Given the description of an element on the screen output the (x, y) to click on. 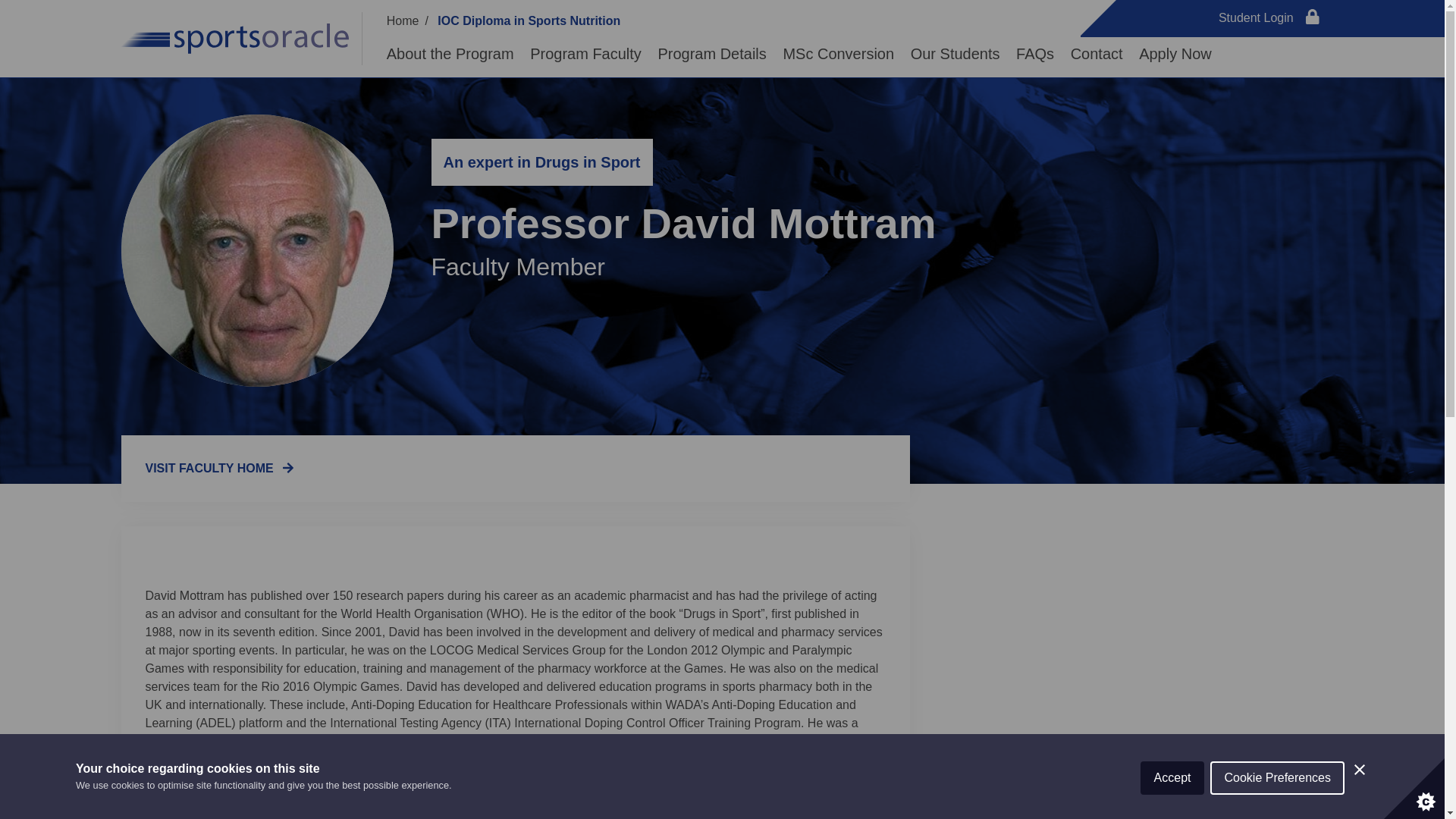
Contact (1096, 53)
Program Faculty (585, 53)
VISIT FACULTY HOME (219, 468)
Accept (1172, 805)
Our Students (955, 53)
Apply Now (1174, 53)
Program Details (711, 53)
MSc Conversion (838, 53)
IOC Diploma in Sports Nutrition (529, 20)
Cookie Preferences (1276, 798)
FAQs (1035, 53)
Home (403, 20)
About the Program (450, 53)
